Given the description of an element on the screen output the (x, y) to click on. 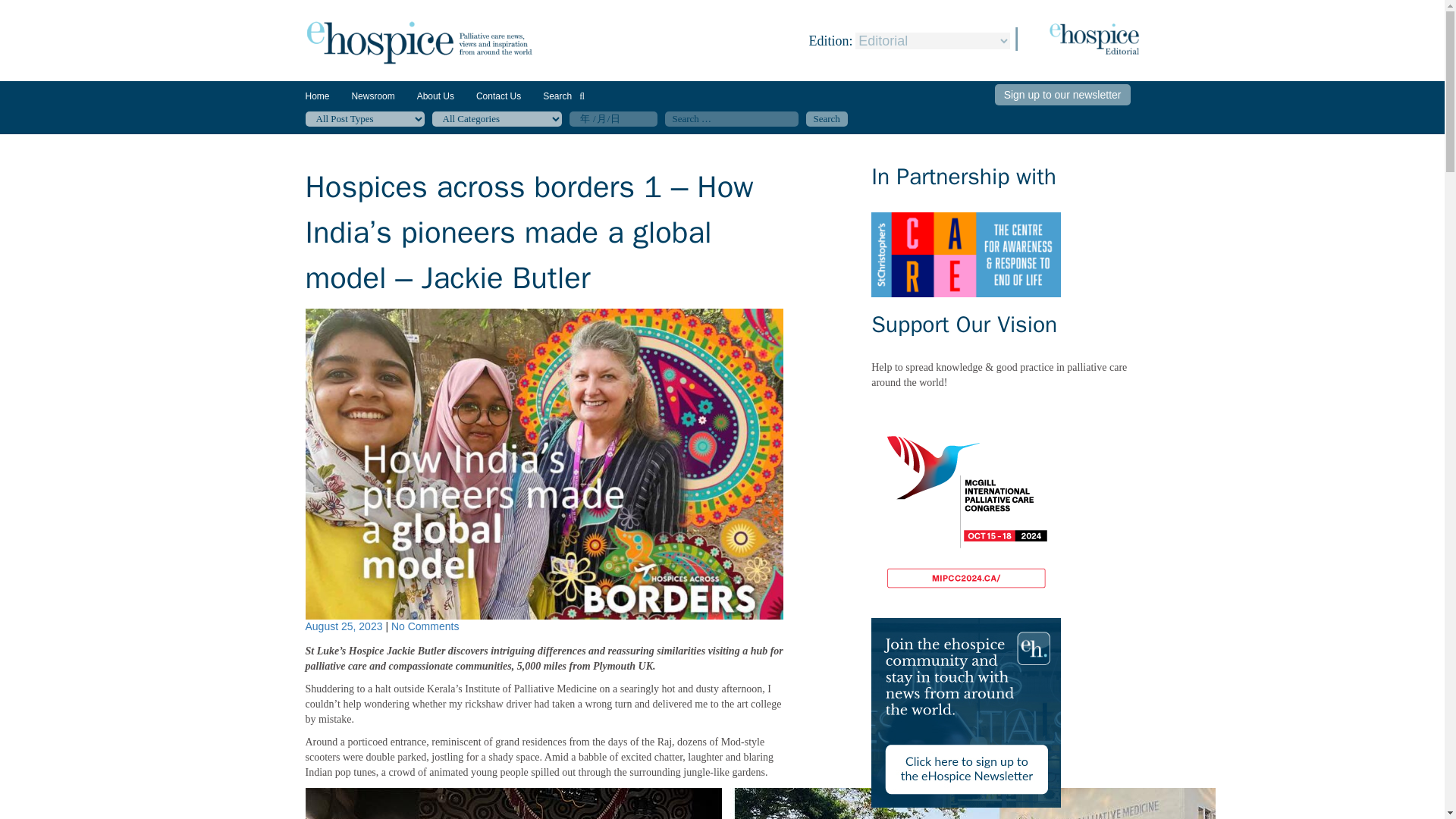
Sign up to our newsletter (1062, 94)
Search (564, 95)
Contact Us (498, 95)
Newsroom (372, 101)
About Us (435, 95)
Home (316, 95)
Search (826, 118)
Search (826, 118)
